Given the description of an element on the screen output the (x, y) to click on. 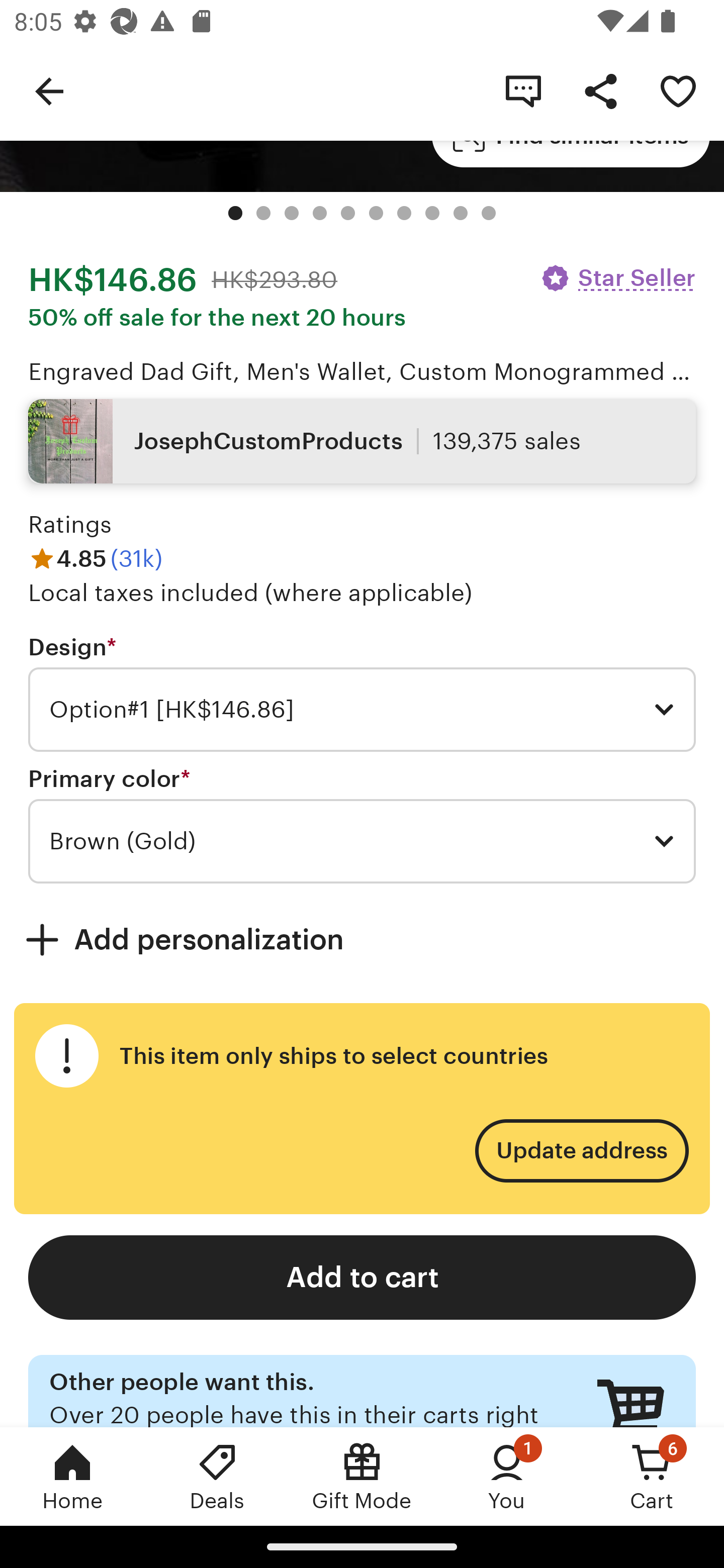
Navigate up (49, 90)
Contact shop (523, 90)
Share (600, 90)
Star Seller (617, 277)
JosephCustomProducts 139,375 sales (361, 440)
Ratings (70, 524)
4.85 (31k) (95, 558)
Design * Required Option#1 [HK$146.86] (361, 692)
Option#1 [HK$146.86] (361, 709)
Primary color * Required Brown (Gold) (361, 823)
Brown (Gold) (361, 840)
Add personalization Add personalization Required (362, 938)
Update address (581, 1150)
Add to cart (361, 1277)
Deals (216, 1475)
Gift Mode (361, 1475)
You, 1 new notification You (506, 1475)
Cart, 6 new notifications Cart (651, 1475)
